Given the description of an element on the screen output the (x, y) to click on. 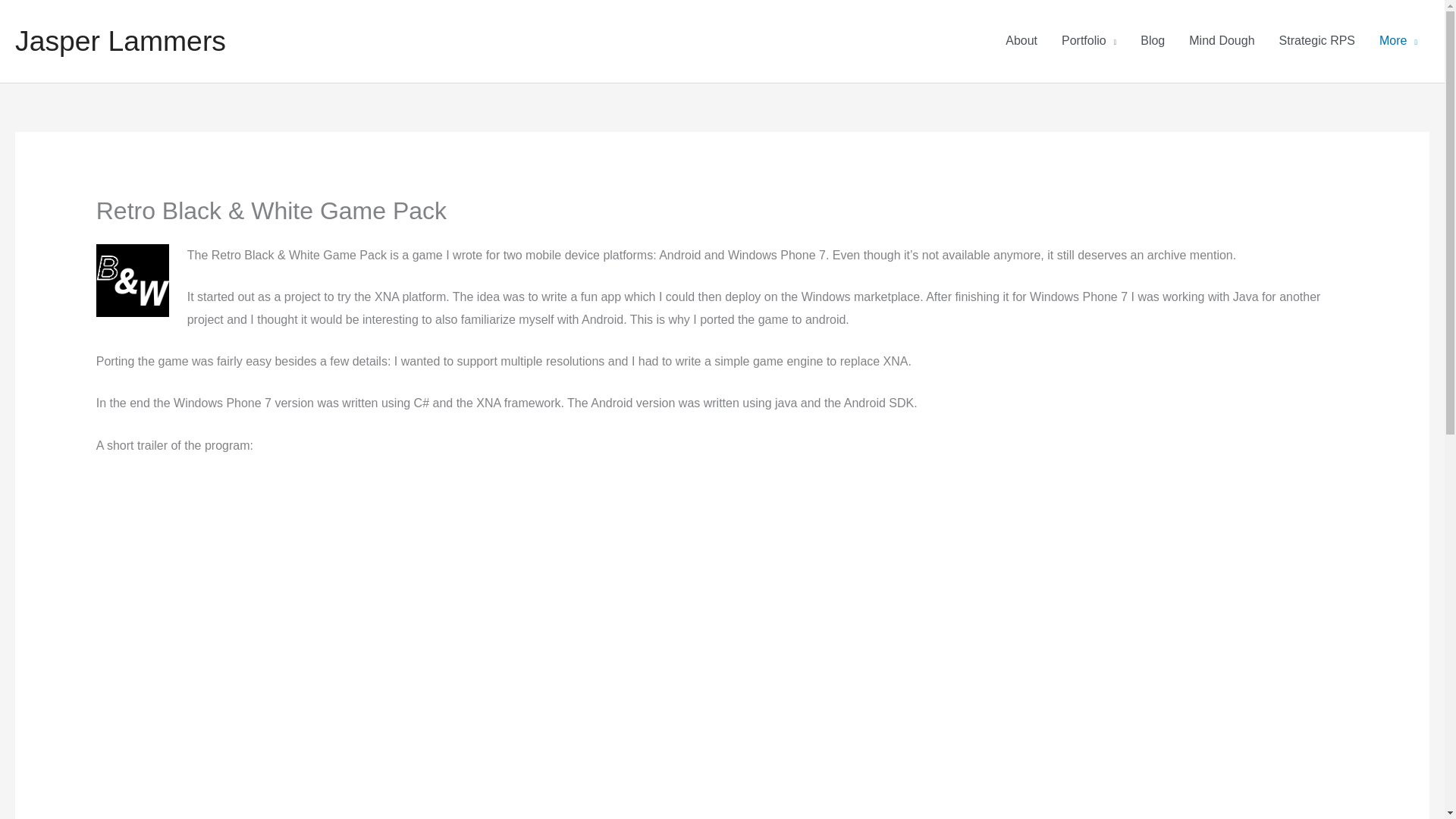
More (1398, 40)
Jasper Lammers (119, 40)
About (1020, 40)
Strategic RPS (1316, 40)
Blog (1152, 40)
Mind Dough (1221, 40)
icon (132, 280)
Portfolio (1088, 40)
